Given the description of an element on the screen output the (x, y) to click on. 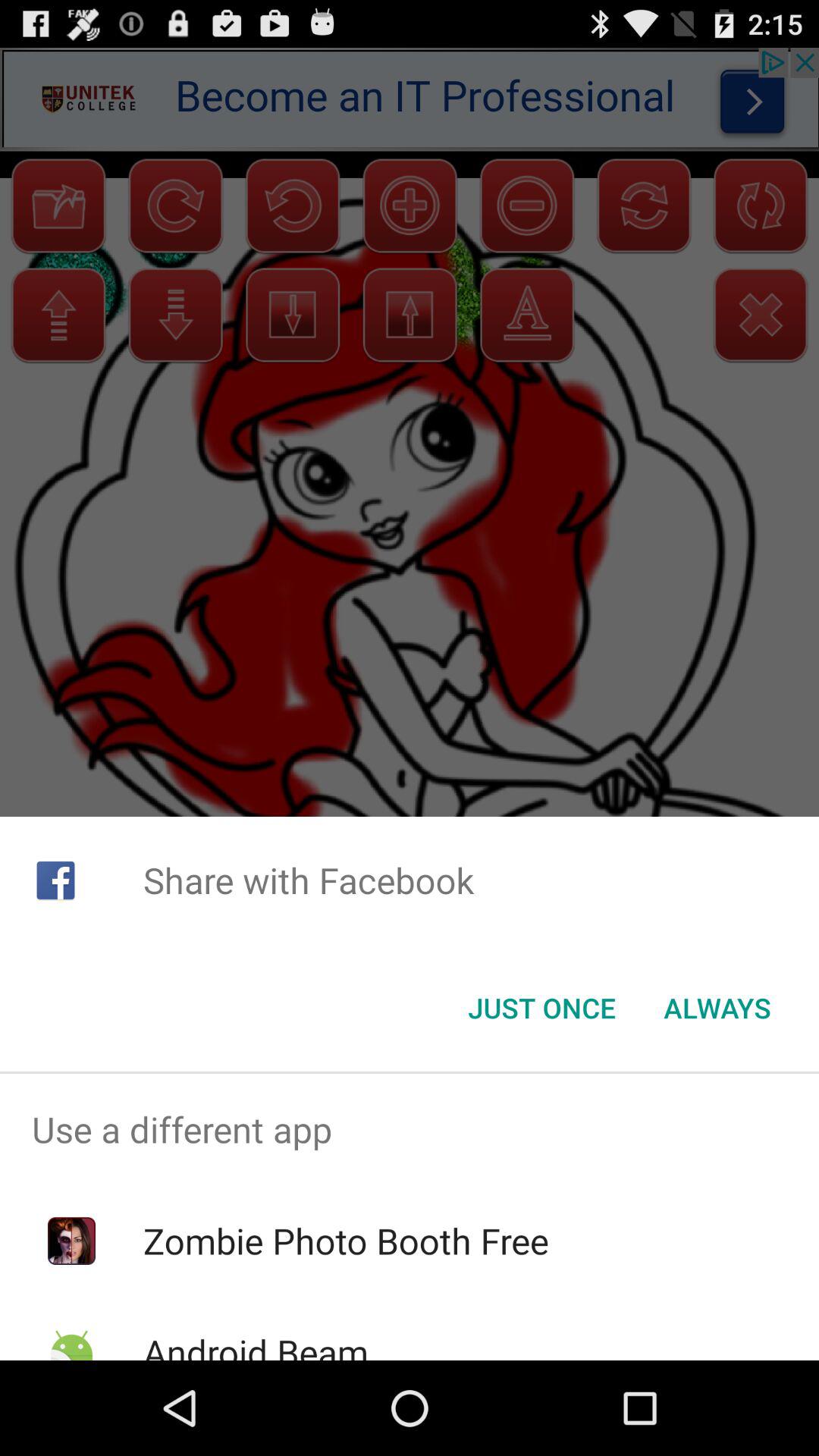
tap the zombie photo booth icon (345, 1240)
